Given the description of an element on the screen output the (x, y) to click on. 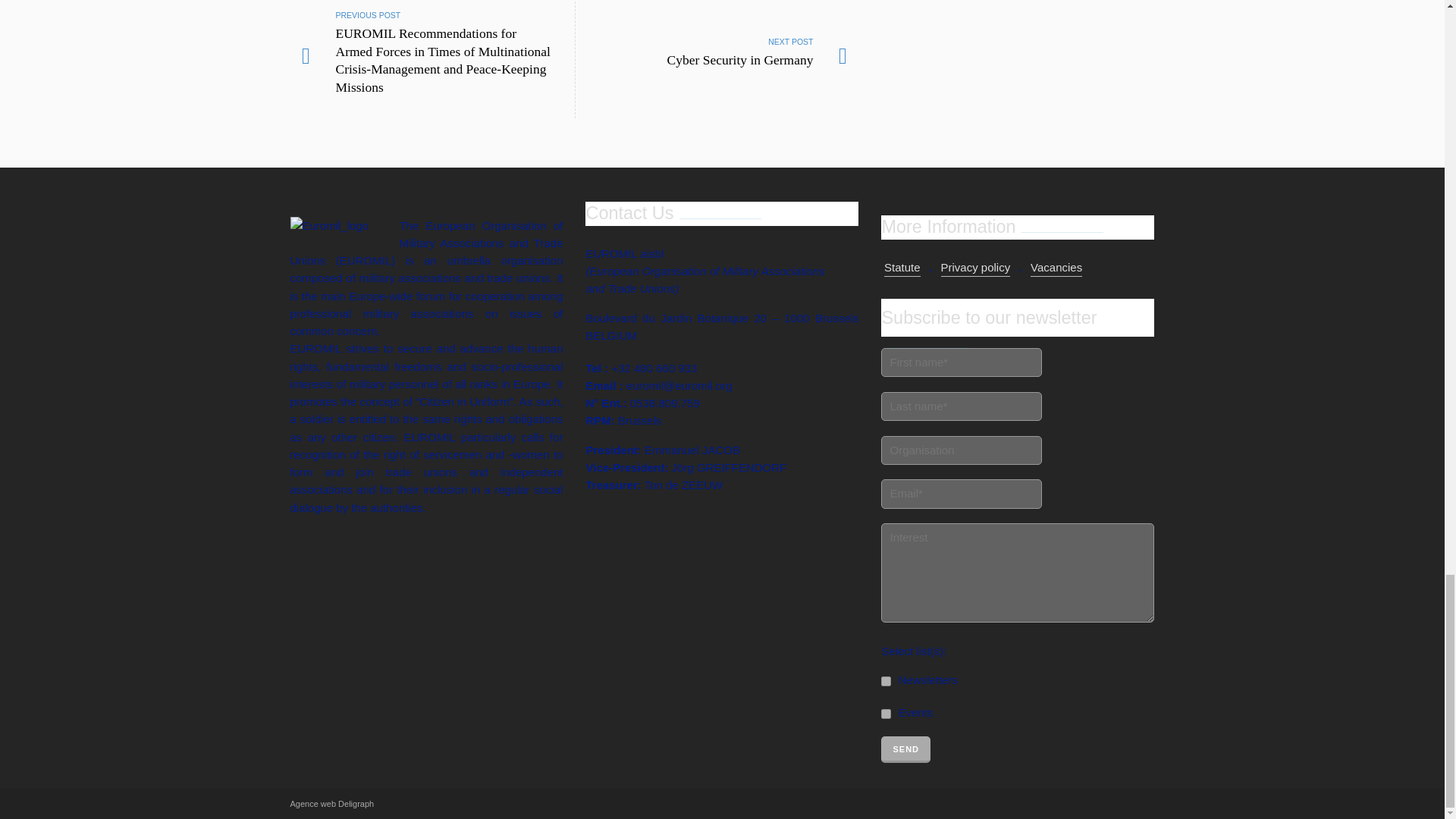
Organisation (961, 450)
Agence web Deligraph (331, 803)
13 (885, 714)
14 (885, 681)
Send (717, 59)
